Given the description of an element on the screen output the (x, y) to click on. 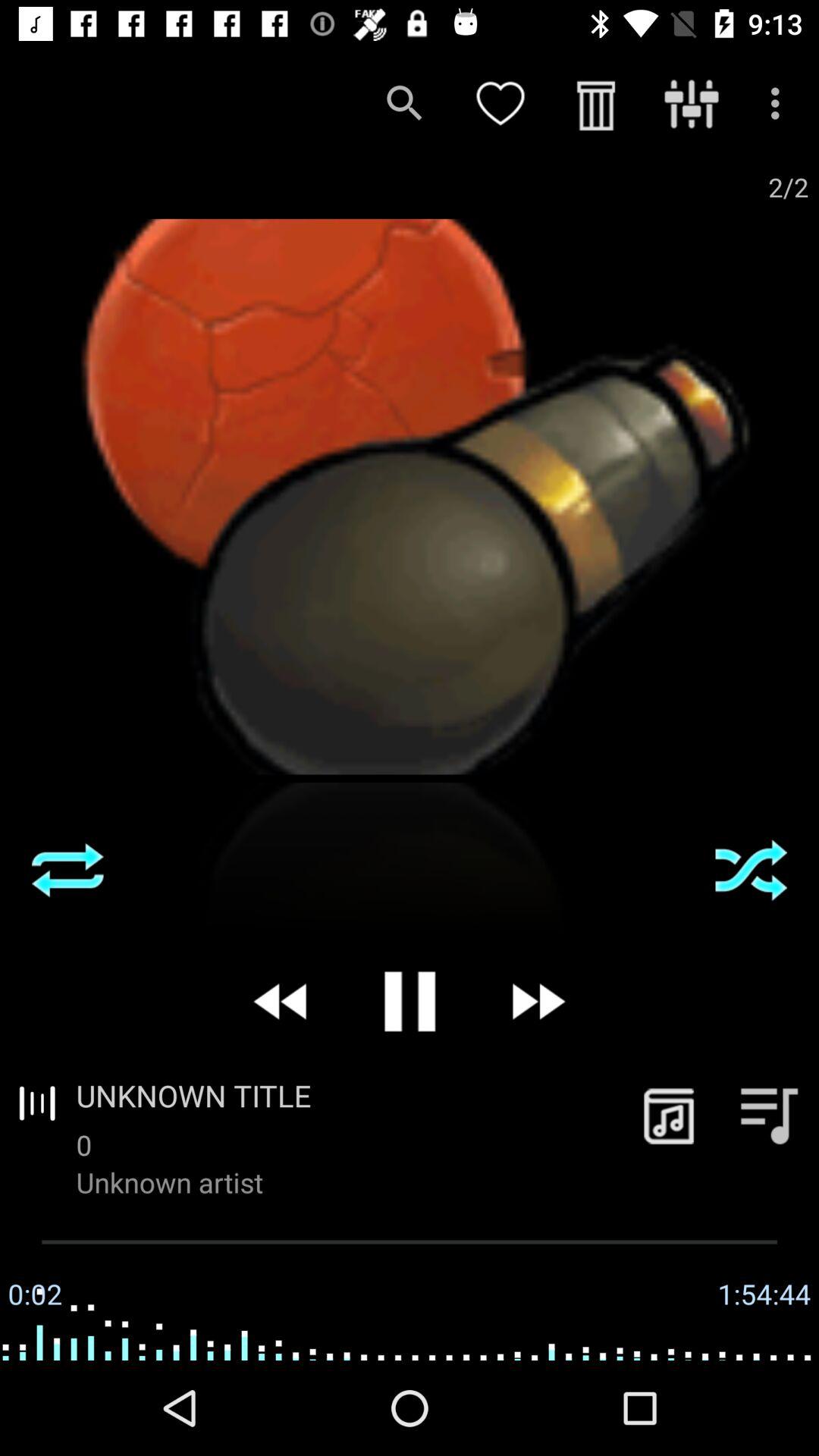
pause (409, 1001)
